Given the description of an element on the screen output the (x, y) to click on. 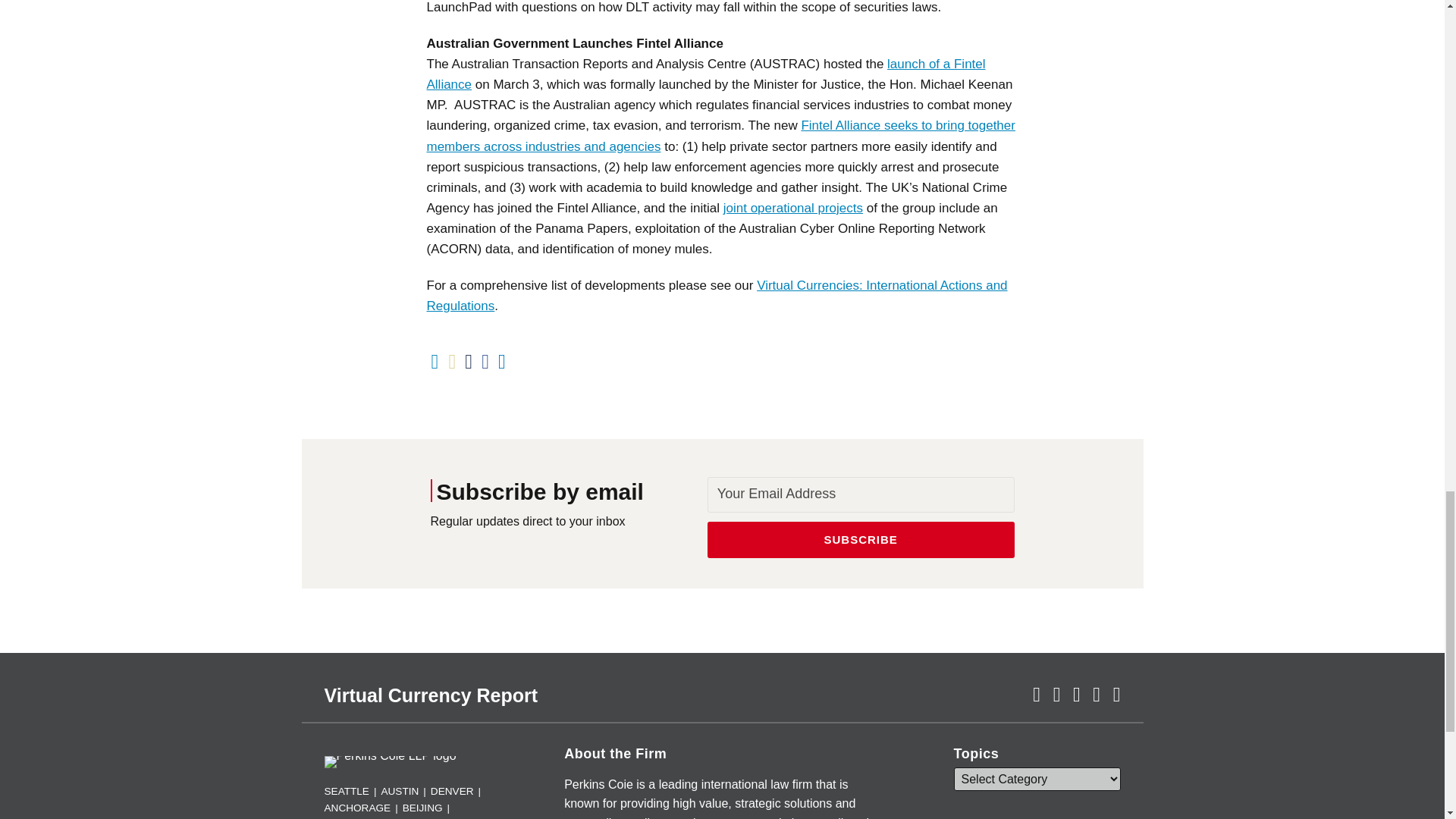
Subscribe (860, 539)
launch of a Fintel Alliance (705, 73)
